Given the description of an element on the screen output the (x, y) to click on. 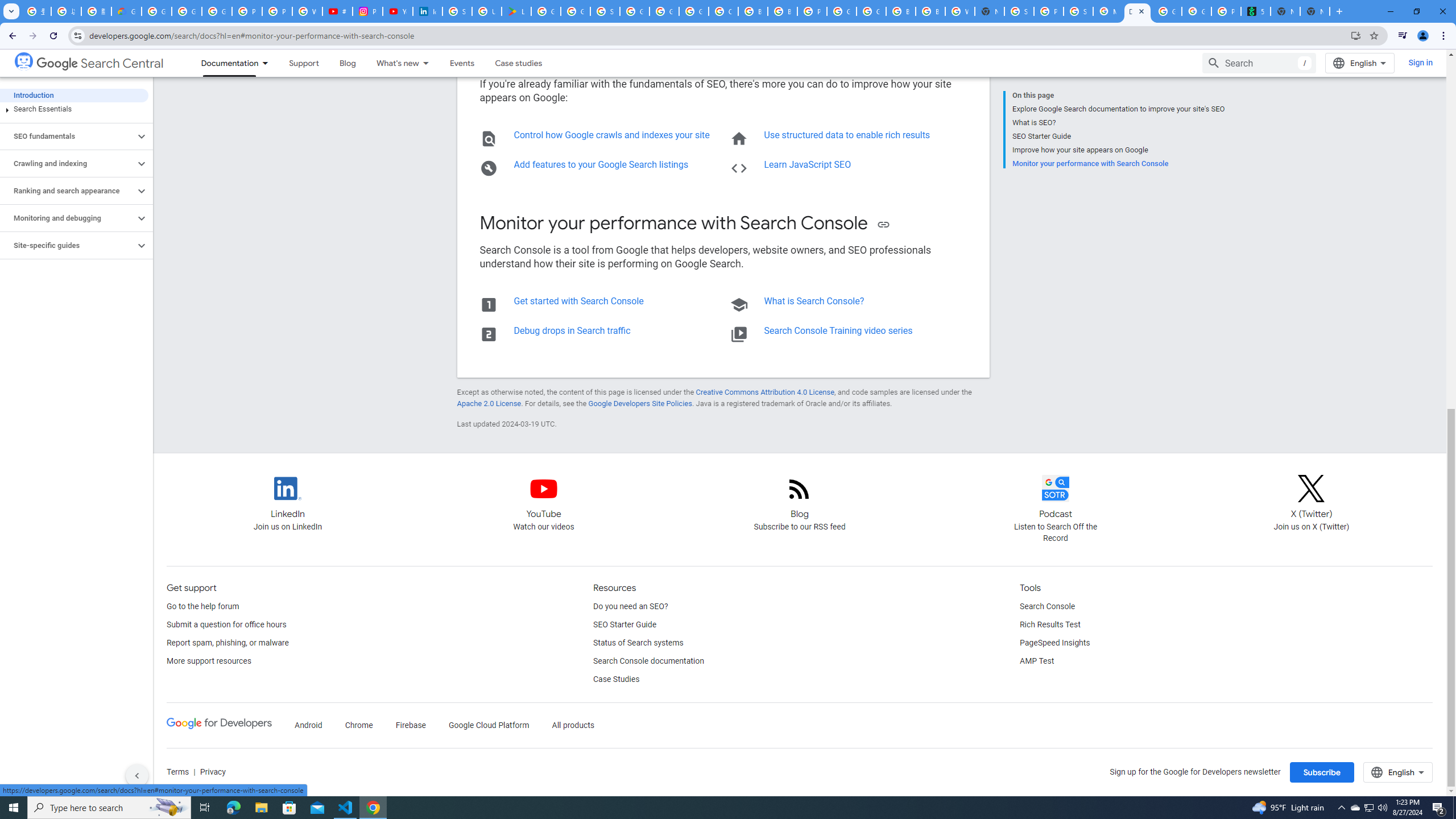
Do you need an SEO? (630, 606)
Firebase (410, 725)
Sign in - Google Accounts (604, 11)
Google Cloud Platform (664, 11)
#nbabasketballhighlights - YouTube (337, 11)
Search Console documentation (648, 661)
YouTube Culture & Trends - On The Rise: Handcam Videos (397, 11)
Podcast (1055, 488)
YouTube (543, 488)
Improve how your site appears on Google (1117, 150)
